Given the description of an element on the screen output the (x, y) to click on. 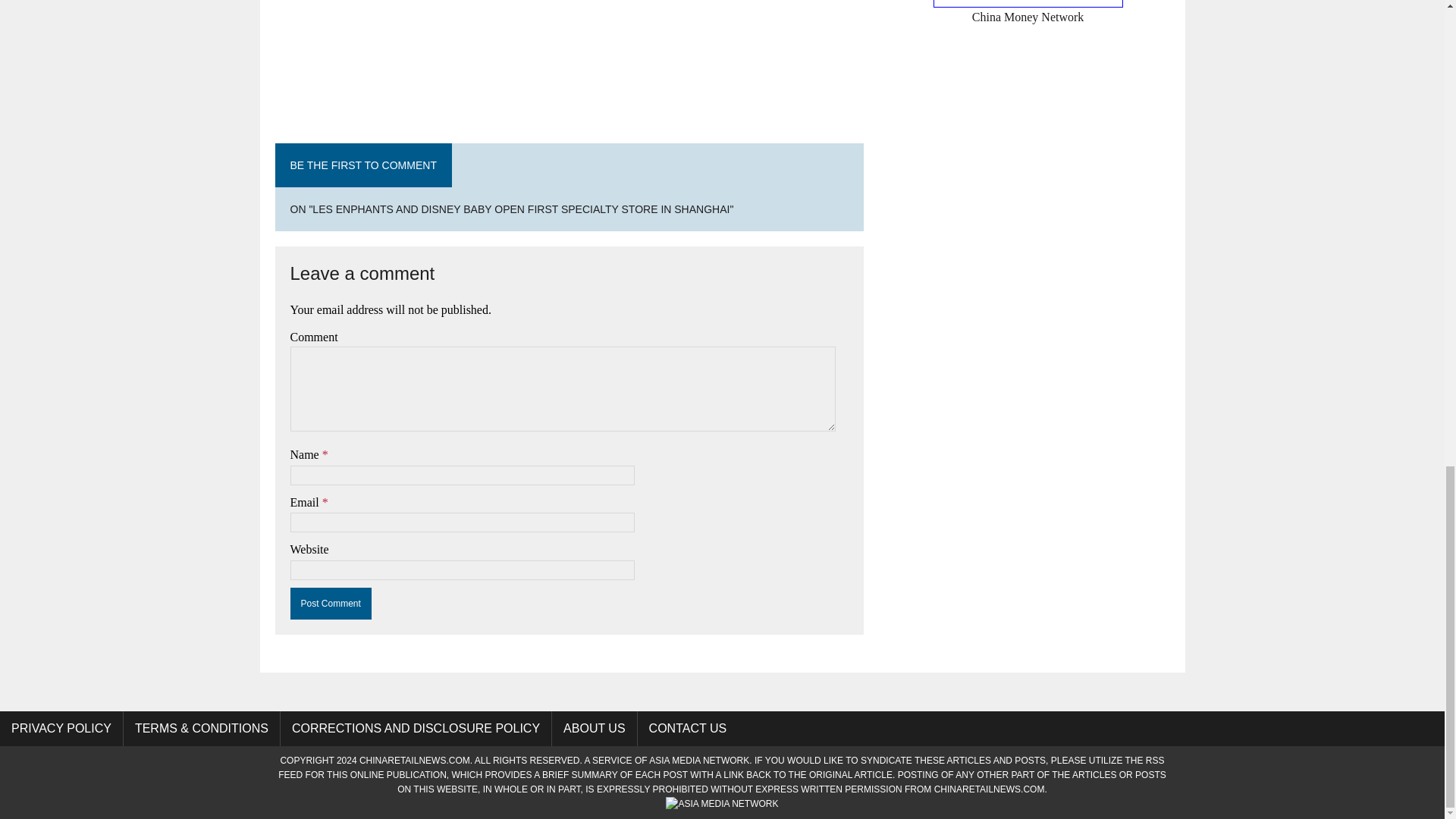
China Money Network (1027, 11)
Post Comment (330, 603)
Asia Media Network (721, 803)
China Money Network - Finance and Investment News Daily (1027, 11)
Asia Media Network (699, 760)
Post Comment (330, 603)
